Given the description of an element on the screen output the (x, y) to click on. 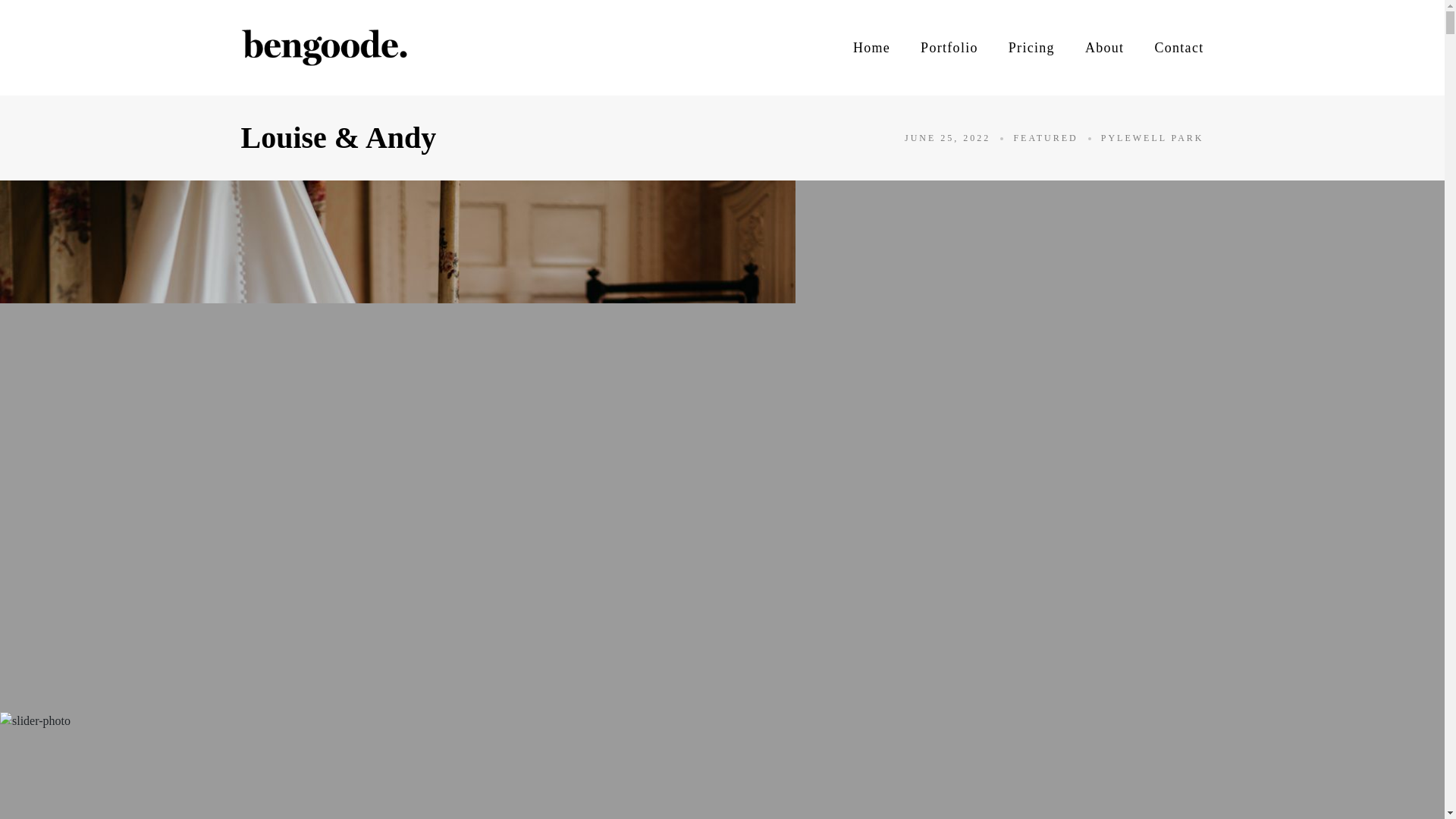
FEATURED (1045, 137)
About (1104, 47)
Contact (1179, 47)
Pricing (1031, 47)
Home (871, 47)
Portfolio (949, 47)
